Given the description of an element on the screen output the (x, y) to click on. 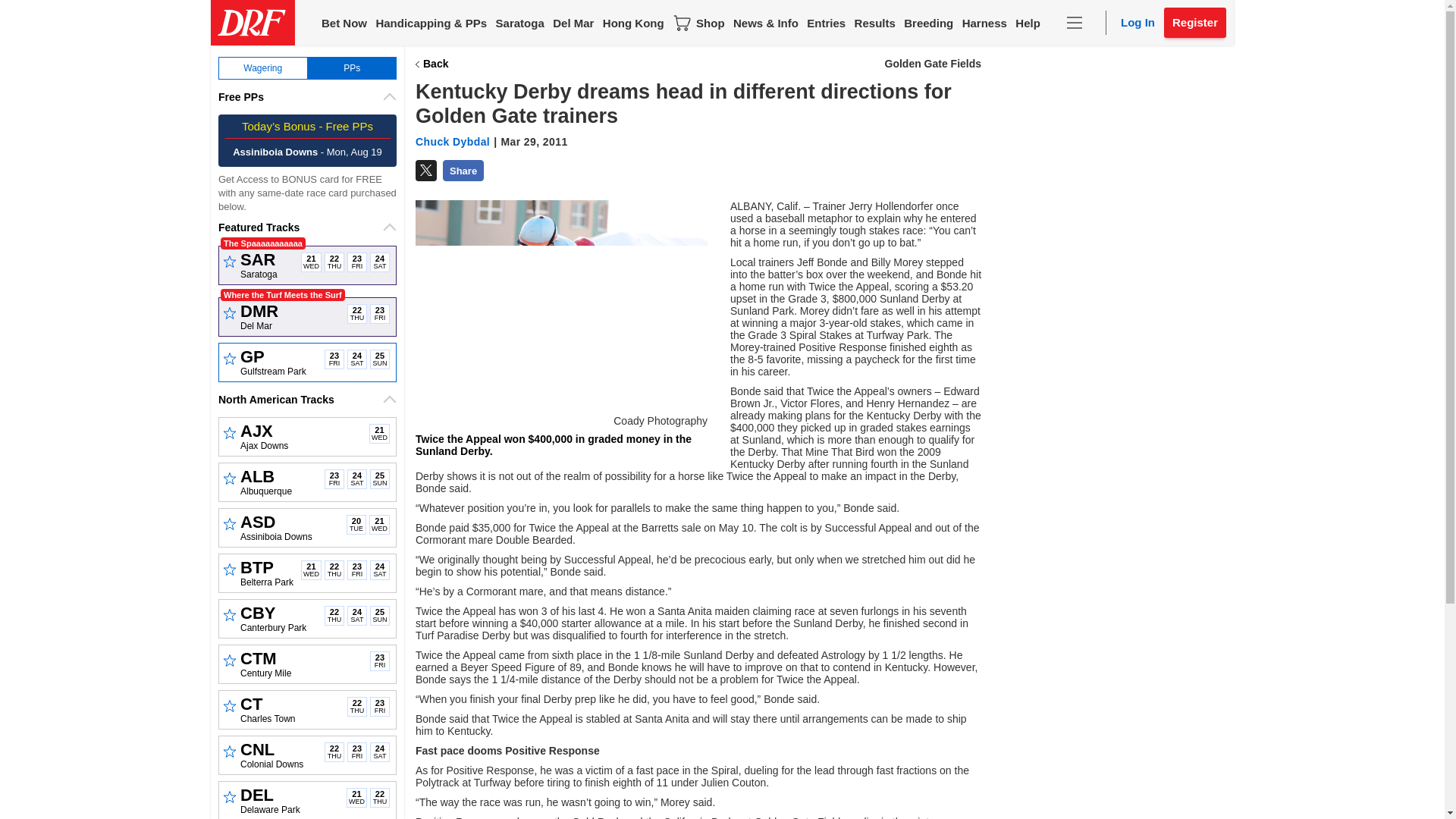
Go to the wagering pad for upcoming races (262, 67)
Breeding (928, 22)
Del Mar (573, 22)
Entries (825, 22)
Bet Now (343, 22)
North American Tracks (307, 399)
Help (1027, 22)
Free PPs (307, 96)
Log In (1137, 22)
Back (431, 64)
